Given the description of an element on the screen output the (x, y) to click on. 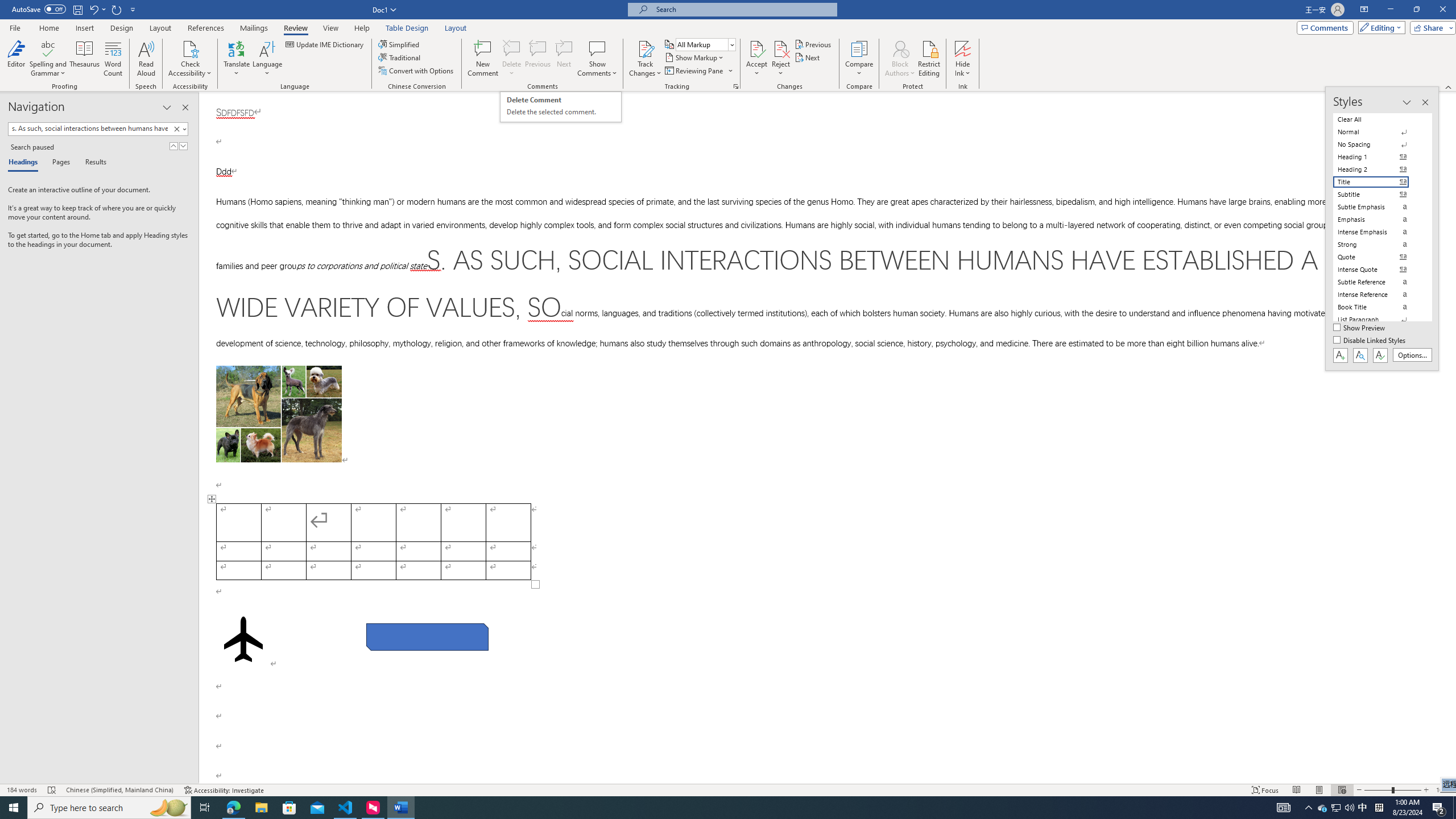
Subtle Emphasis (1377, 206)
Table Design (407, 28)
Editing (1379, 27)
Accept and Move to Next (756, 48)
Subtle Reference (1377, 282)
Book Title (1377, 306)
Title (1377, 182)
Airplane with solid fill (242, 638)
Class: MsoCommandBar (728, 45)
Intense Reference (1377, 294)
